Given the description of an element on the screen output the (x, y) to click on. 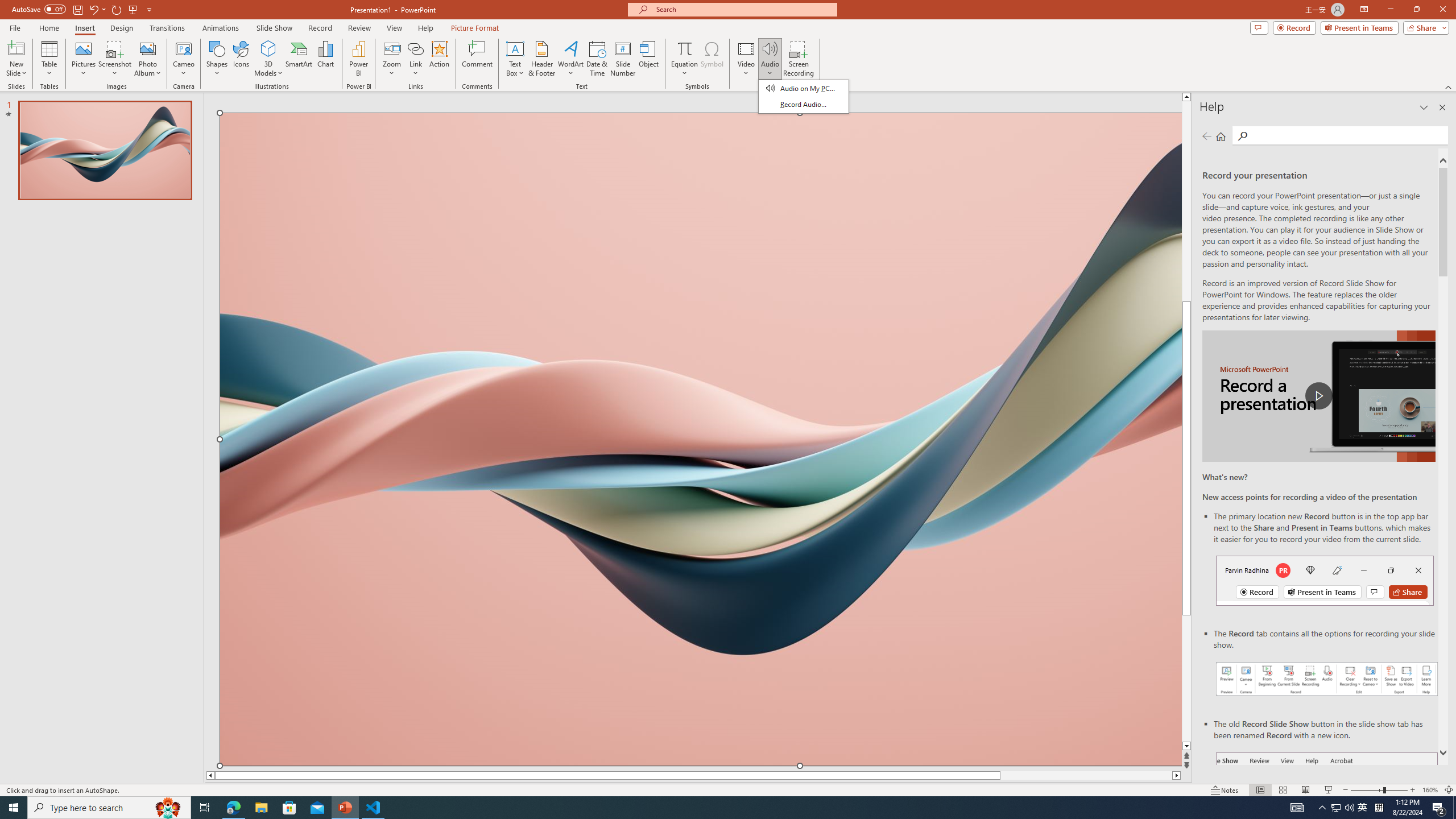
Action (439, 58)
Power BI (358, 58)
Slide Number (622, 58)
